Given the description of an element on the screen output the (x, y) to click on. 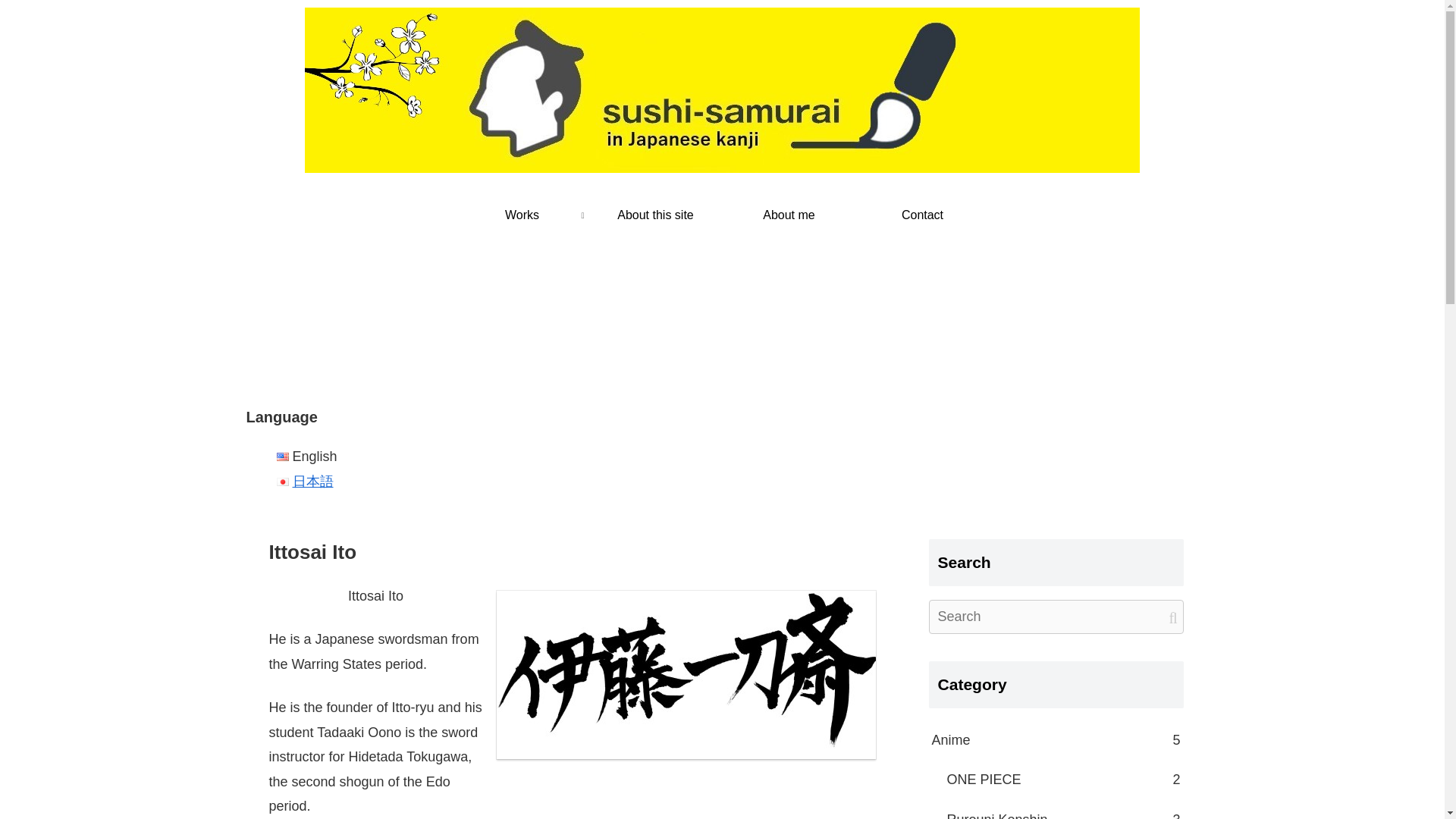
Contact (922, 215)
Works (521, 215)
About me (789, 215)
About this site (655, 215)
